Given the description of an element on the screen output the (x, y) to click on. 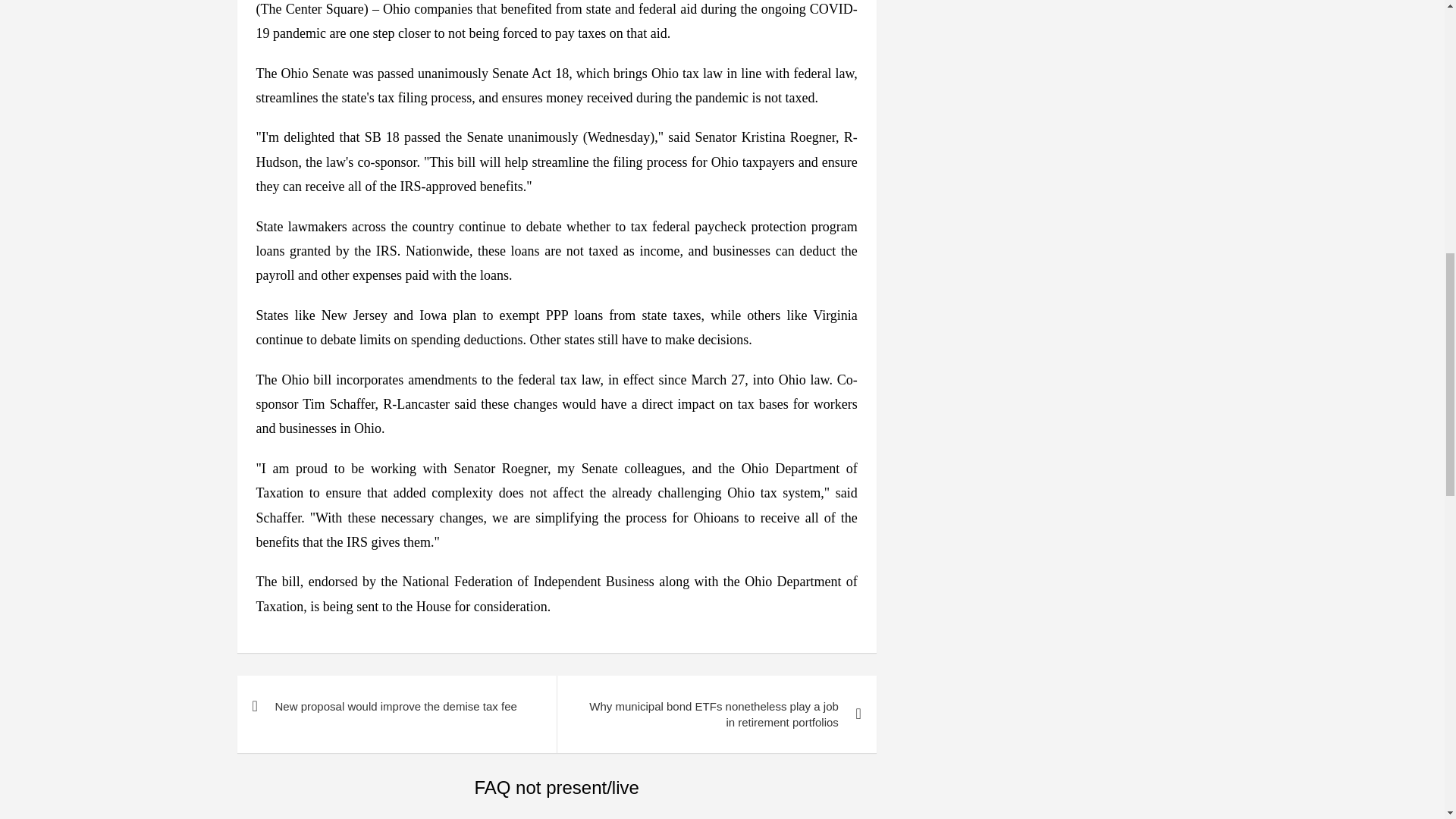
New proposal would improve the demise tax fee (395, 706)
